Given the description of an element on the screen output the (x, y) to click on. 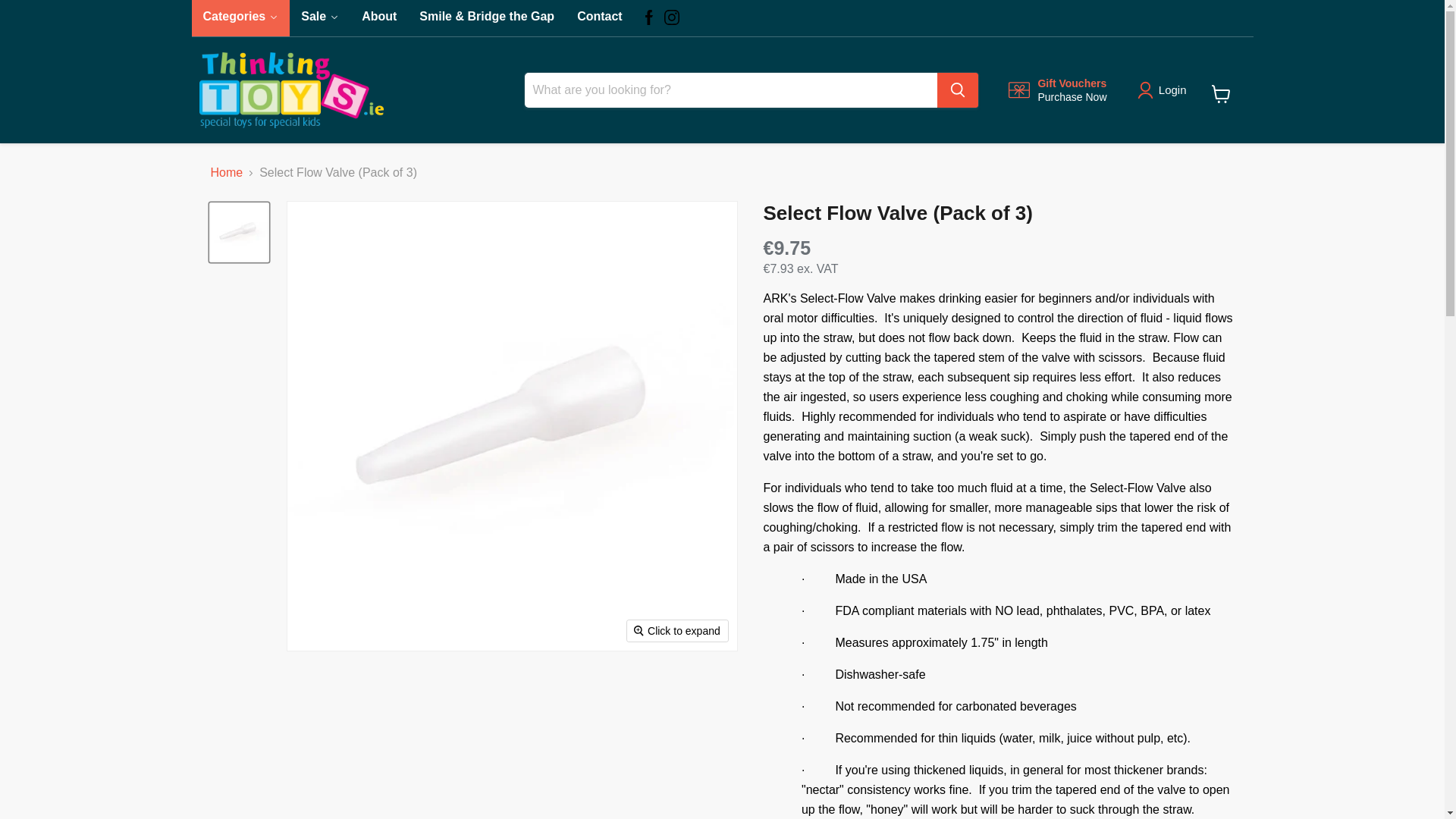
Contact (599, 18)
Click to expand (677, 630)
Sale (319, 18)
Home (227, 172)
Login (1172, 90)
Contact (1057, 90)
Categories (599, 18)
View cart (239, 18)
About (1221, 93)
Sale (378, 18)
Categories (319, 18)
About (239, 18)
